Given the description of an element on the screen output the (x, y) to click on. 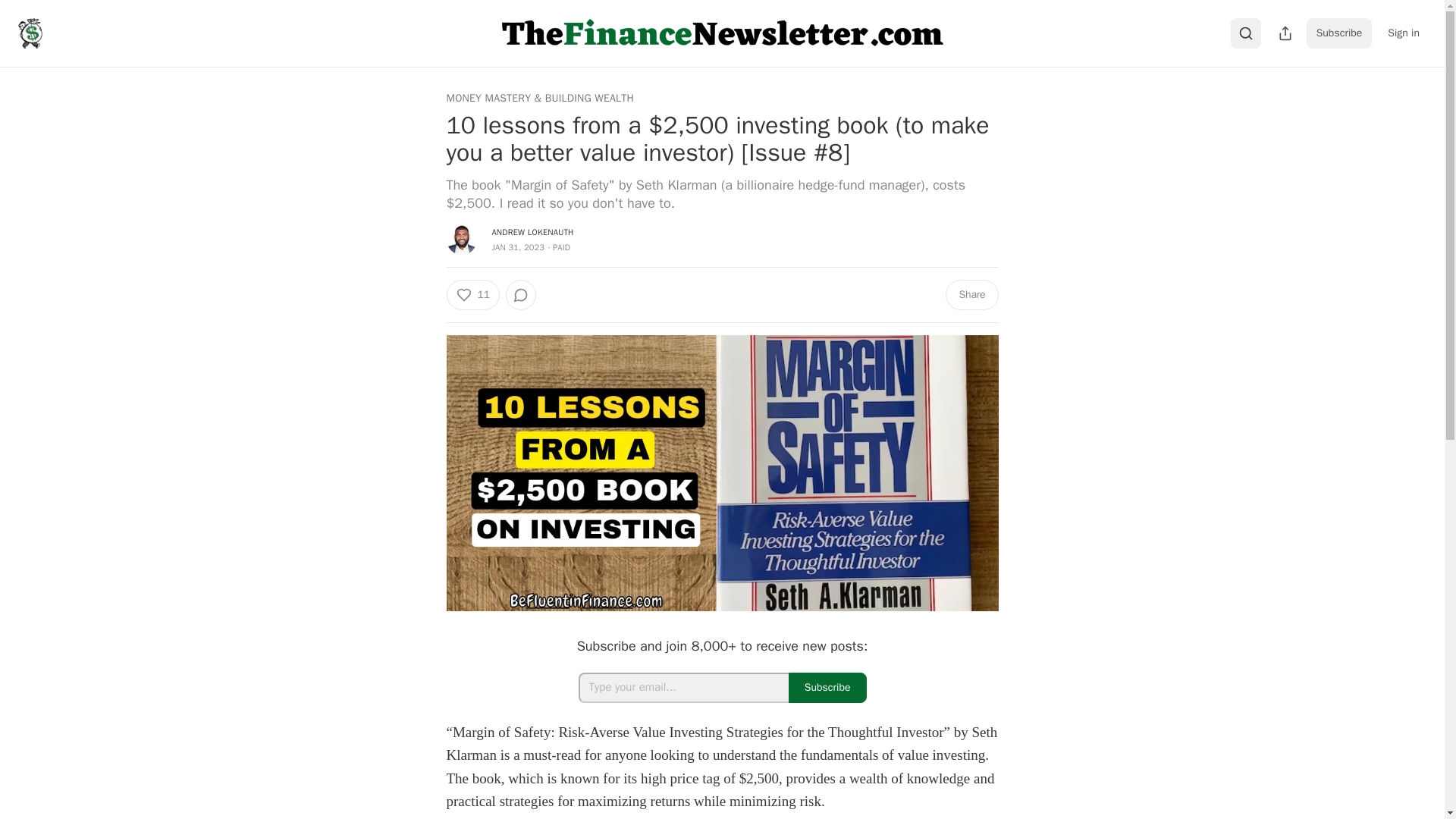
Subscribe (827, 687)
Subscribe (1339, 33)
Share (970, 295)
ANDREW LOKENAUTH (532, 231)
11 (472, 295)
Sign in (1403, 33)
